Given the description of an element on the screen output the (x, y) to click on. 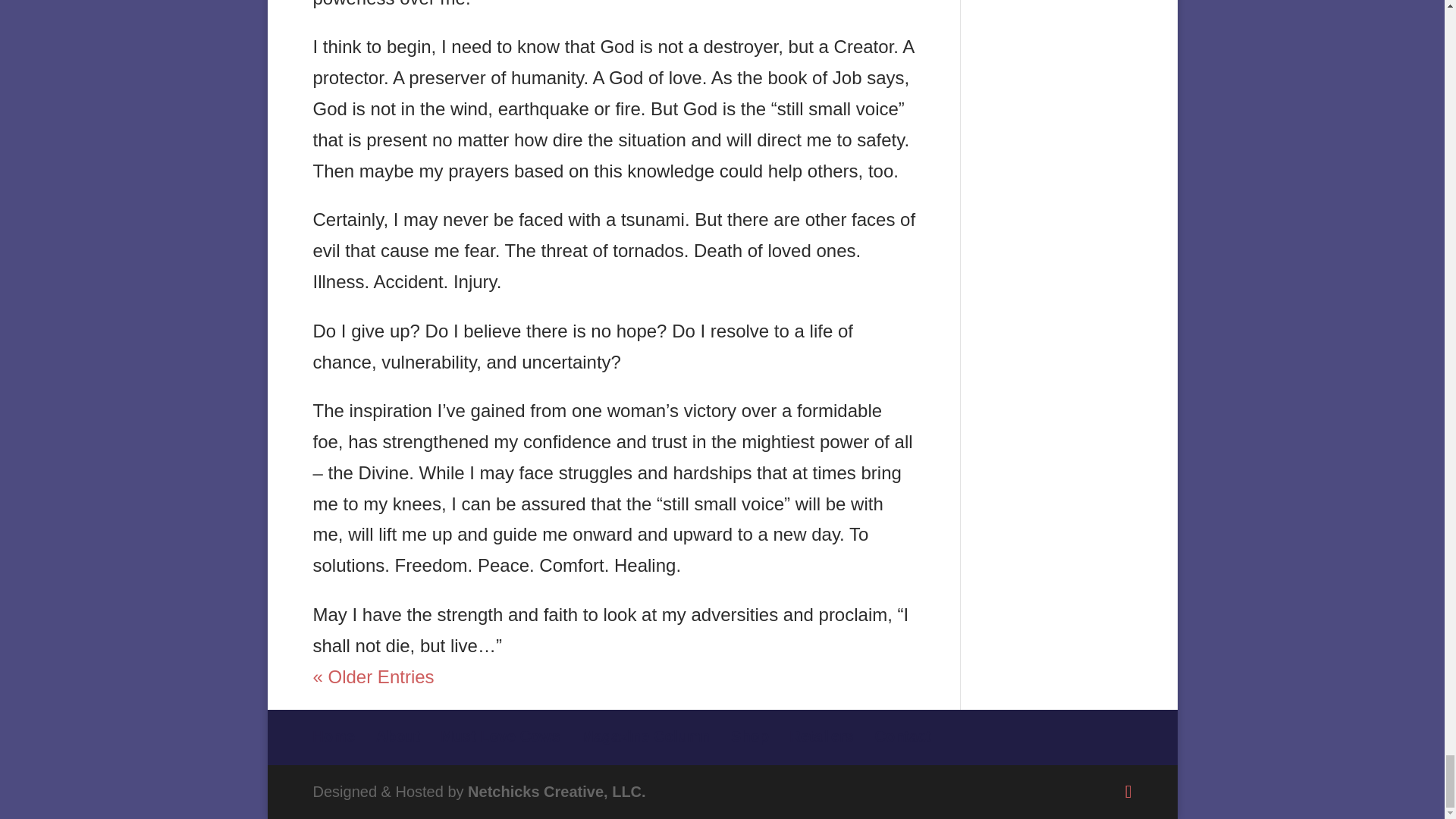
Affordable WordPress Design (556, 791)
Netchicks Creative, LLC. (556, 791)
Shop (749, 736)
Magazine Column (645, 736)
About (397, 736)
Contact (903, 736)
Home (334, 736)
Must Love Cows (500, 736)
Retailers (821, 736)
